Given the description of an element on the screen output the (x, y) to click on. 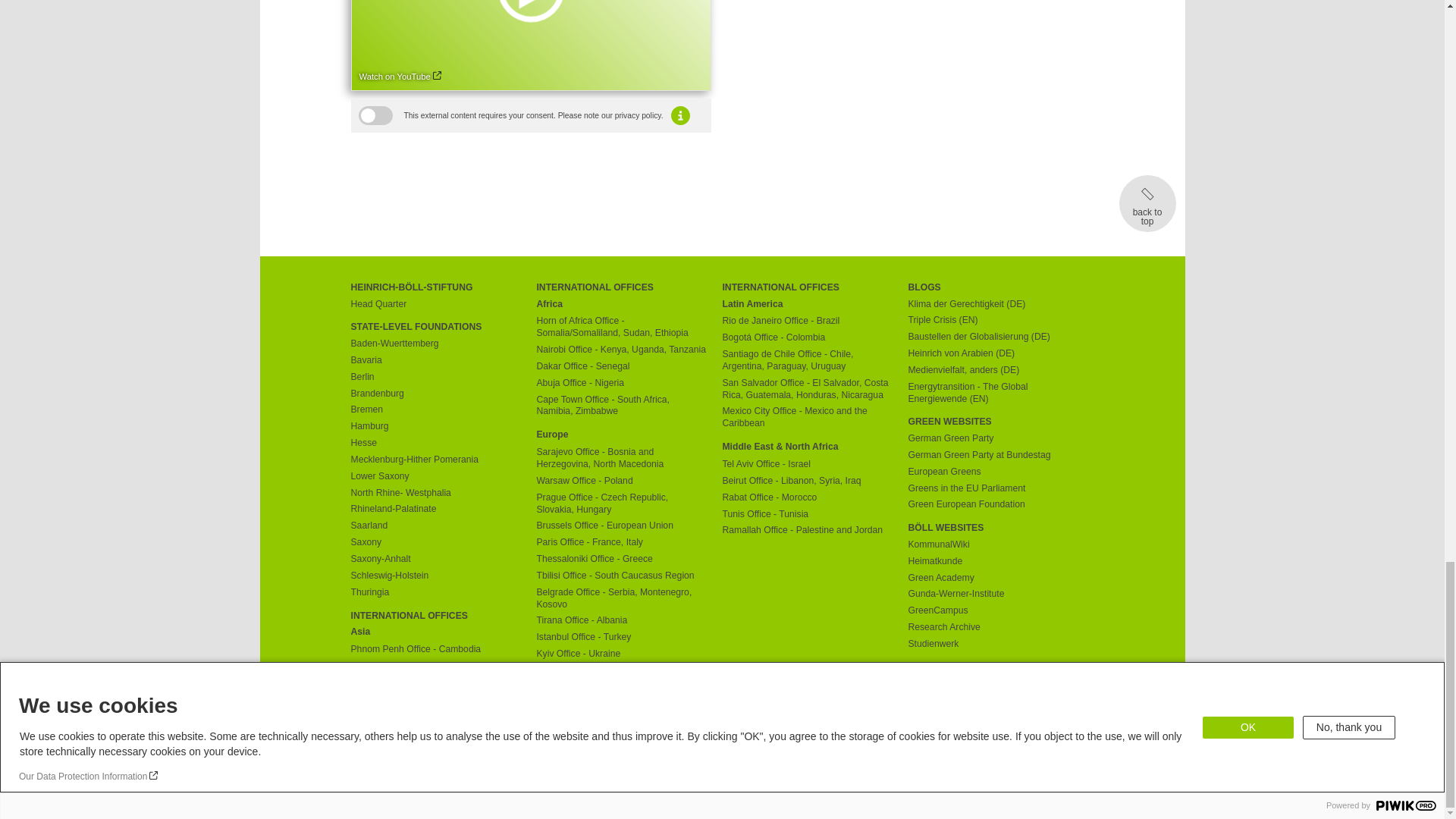
Watch on YouTube (400, 76)
